Given the description of an element on the screen output the (x, y) to click on. 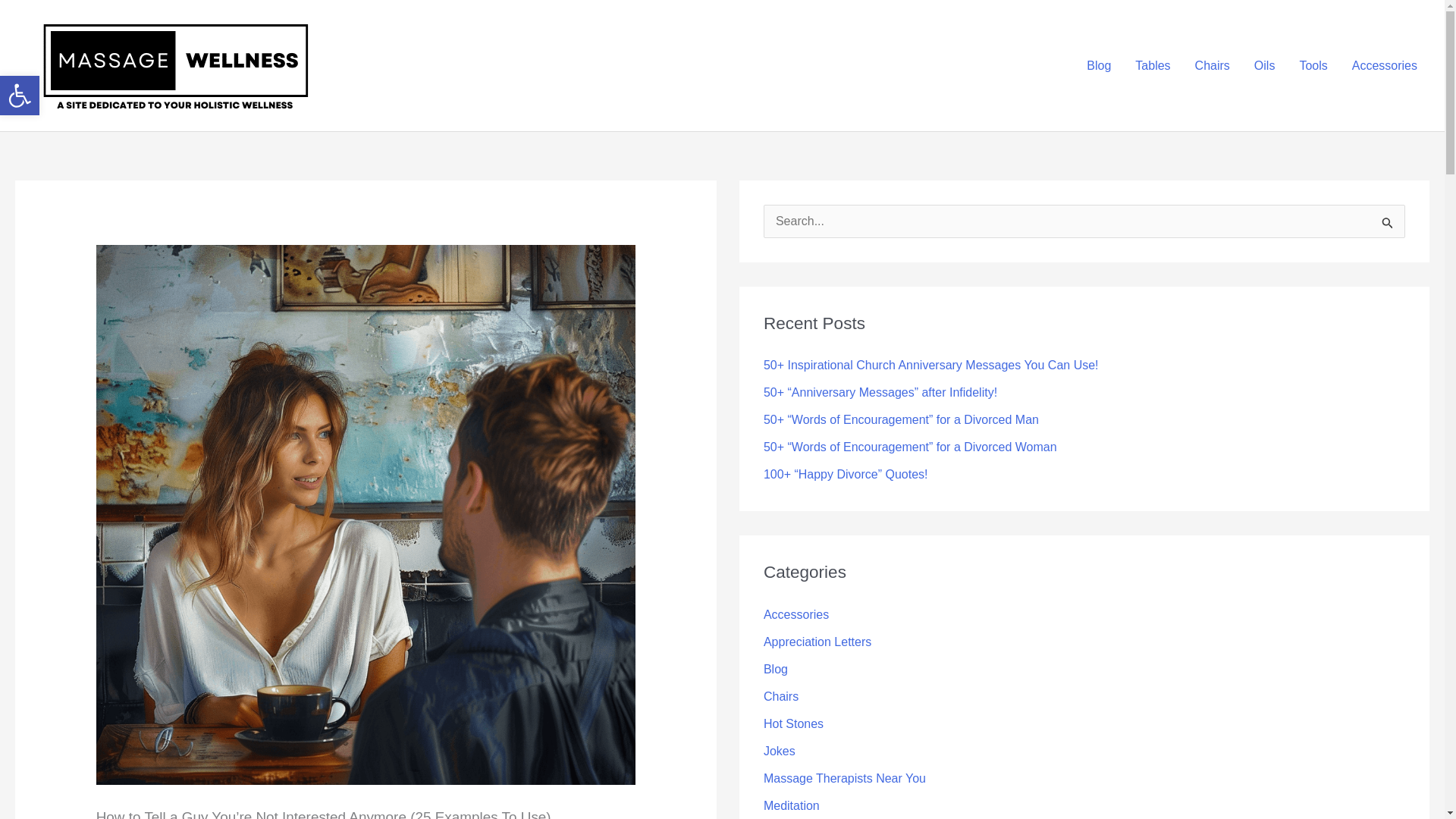
Tables (1152, 65)
Tools (1313, 65)
Accessibility Tools (19, 95)
Blog (1098, 65)
Chairs (1211, 65)
Accessories (1384, 65)
Accessibility Tools (19, 95)
